Given the description of an element on the screen output the (x, y) to click on. 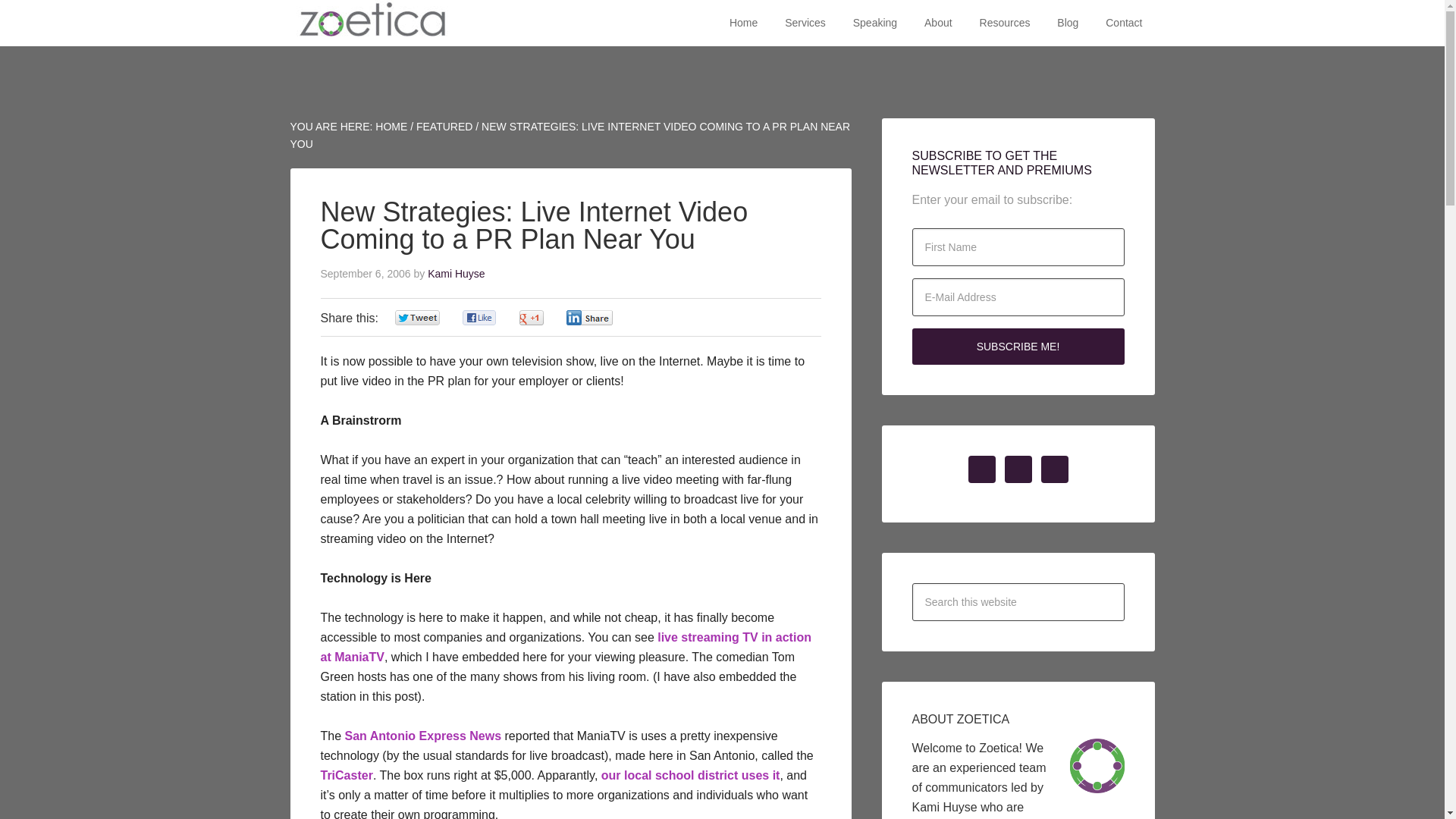
Subscribe me! (1017, 346)
Resources (1005, 22)
FEATURED (443, 126)
ZOETICA MEDIA (370, 22)
TriCaster (346, 775)
Be the first one to tweet this article! (433, 316)
Kami Huyse (456, 273)
San Antonio Express News (425, 735)
